Given the description of an element on the screen output the (x, y) to click on. 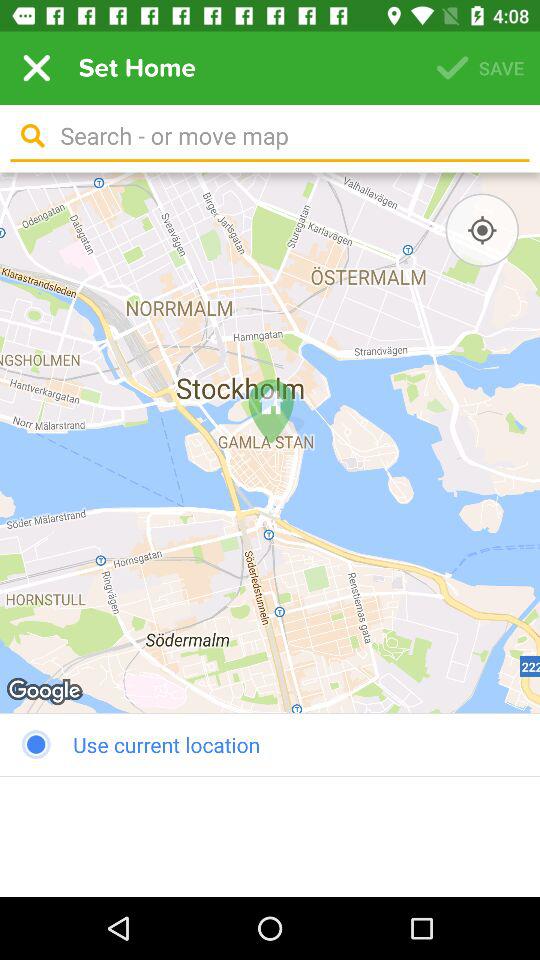
flip to the use current location item (270, 744)
